Given the description of an element on the screen output the (x, y) to click on. 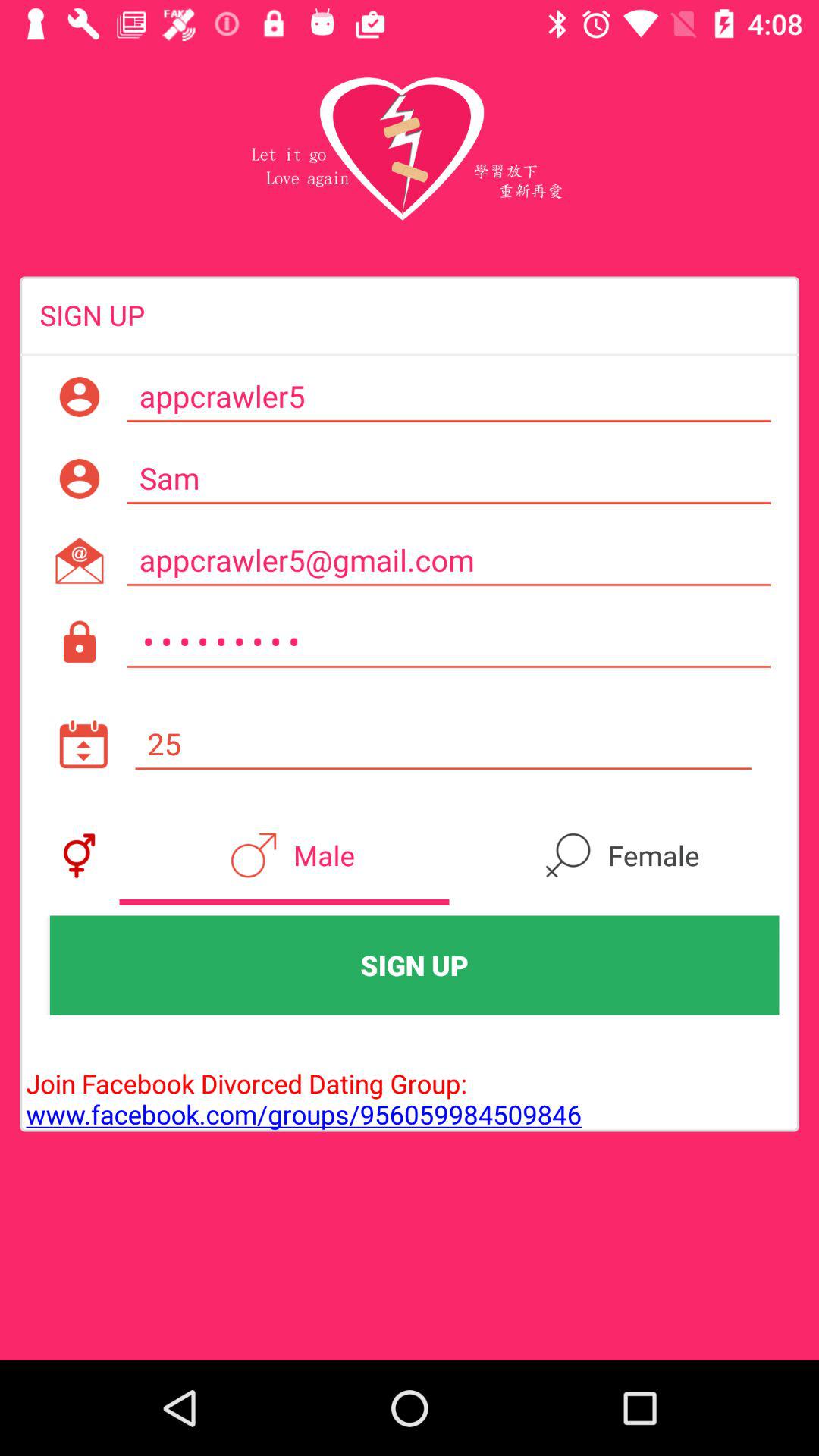
open icon below the appcrawler5@gmail.com icon (449, 642)
